Given the description of an element on the screen output the (x, y) to click on. 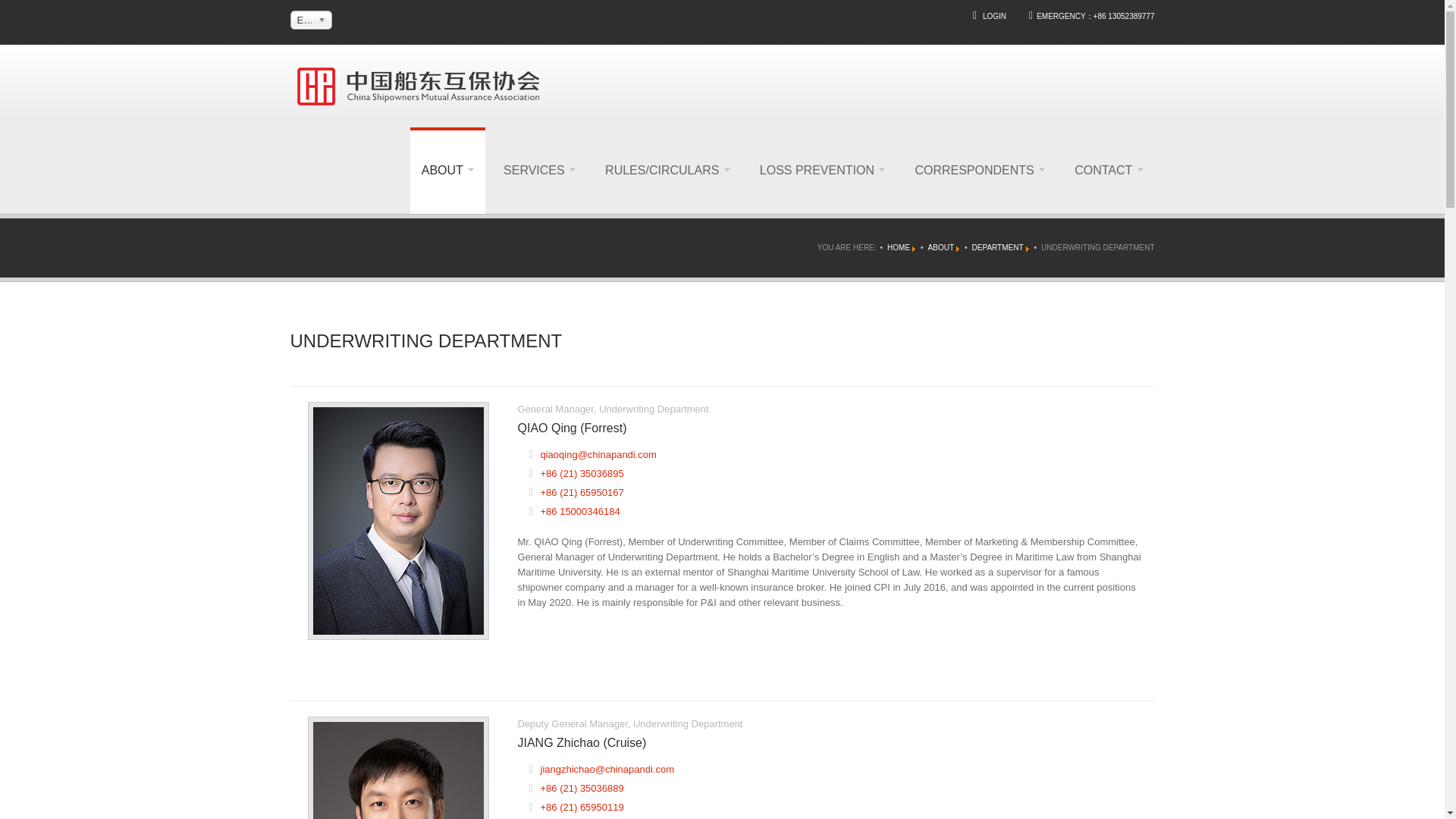
ENGLISH (310, 19)
LOGIN (994, 16)
SERVICES (539, 170)
